Given the description of an element on the screen output the (x, y) to click on. 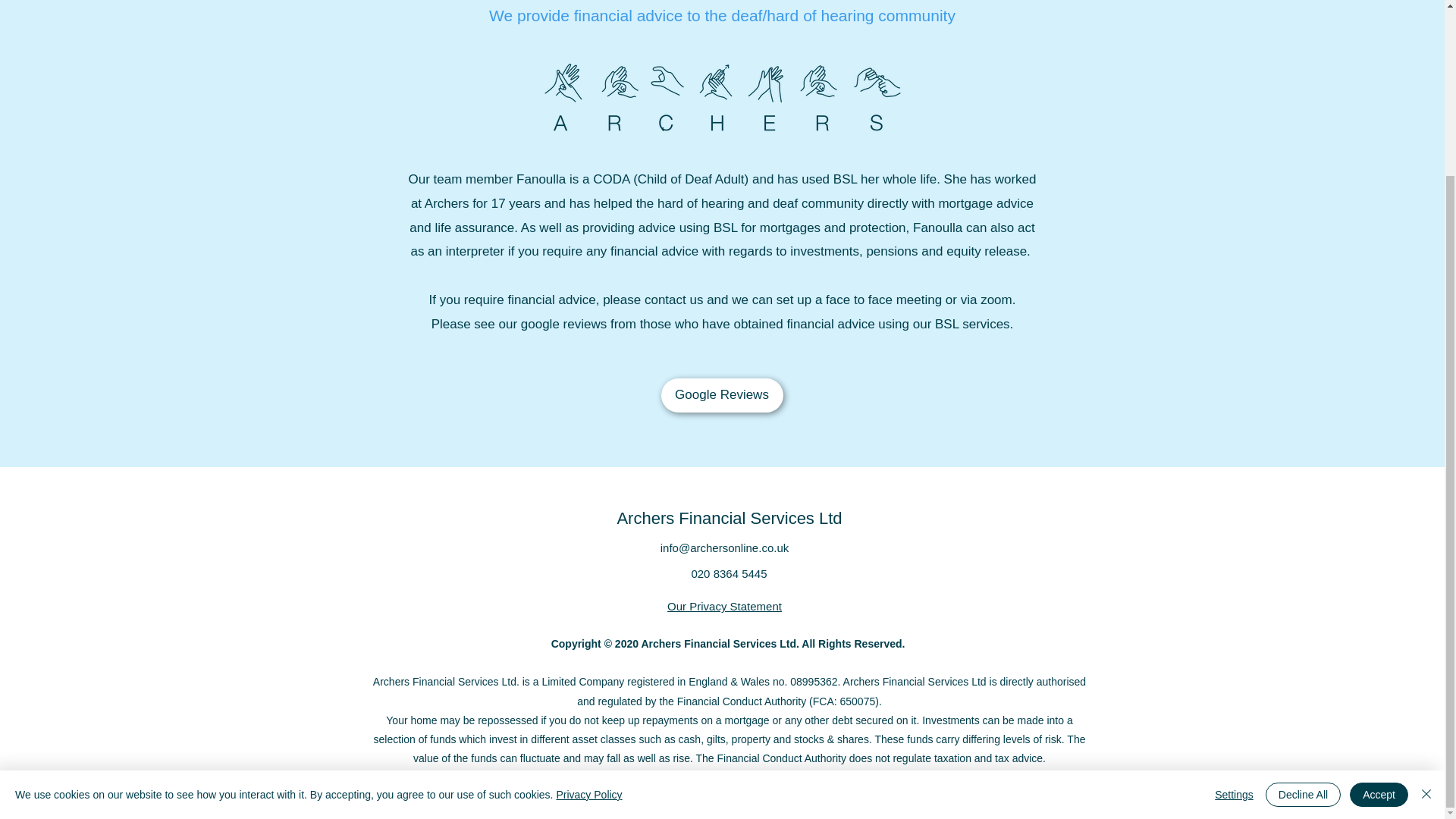
Decline All (1302, 580)
Google Reviews (722, 395)
Accept (1378, 580)
Privacy Policy (588, 580)
